Given the description of an element on the screen output the (x, y) to click on. 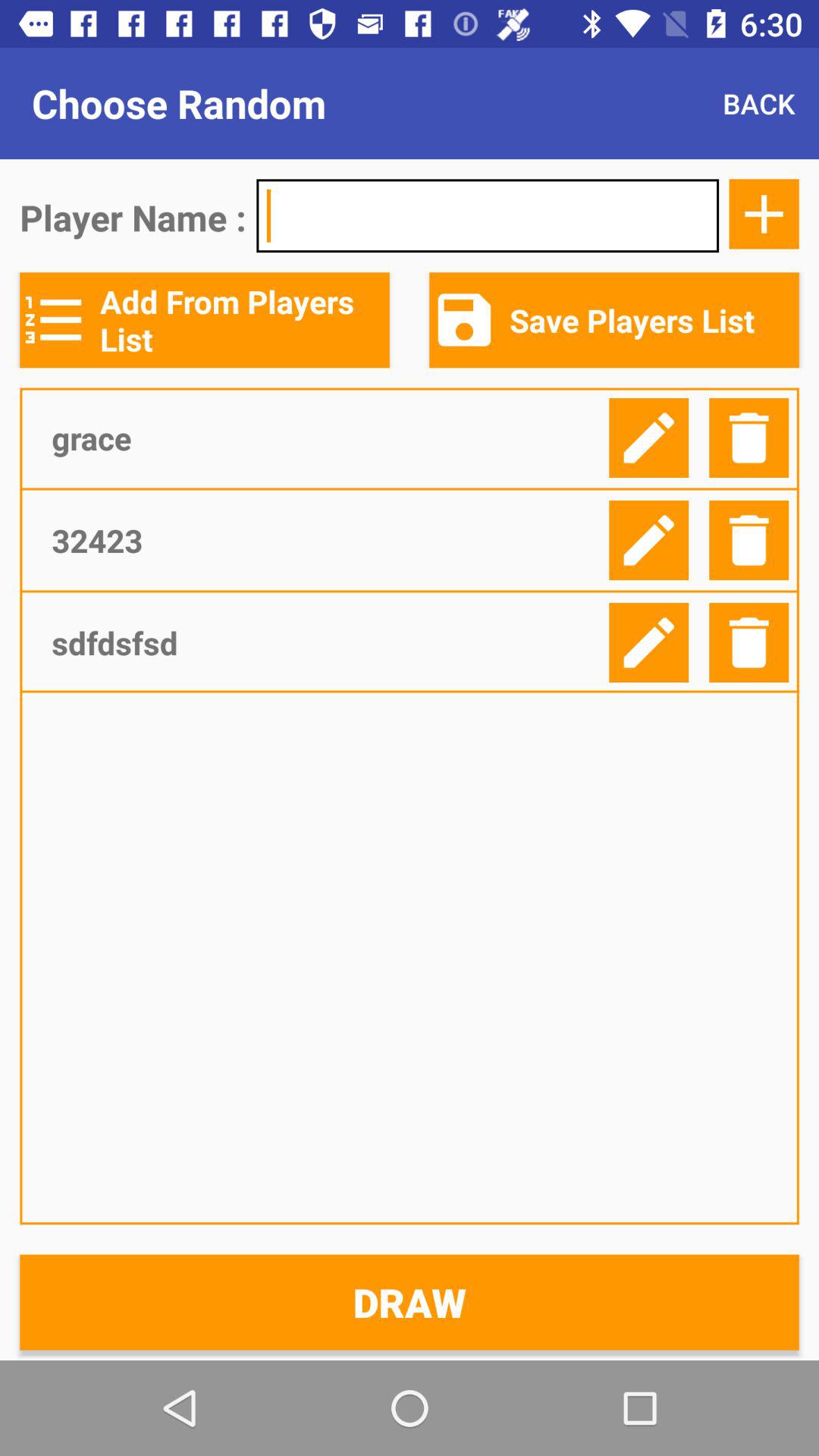
scroll until draw icon (409, 1302)
